Given the description of an element on the screen output the (x, y) to click on. 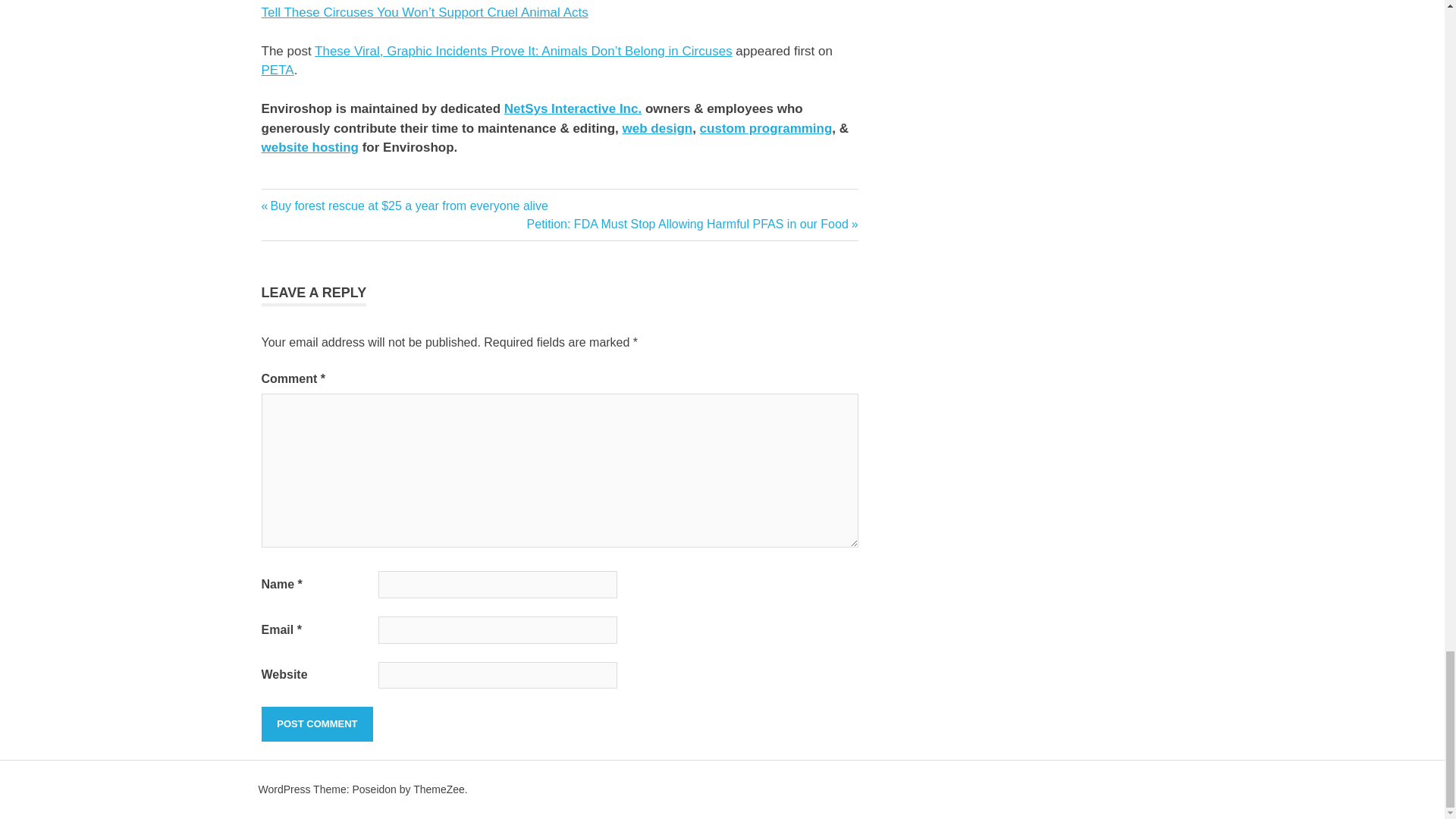
Post Comment (316, 724)
